Given the description of an element on the screen output the (x, y) to click on. 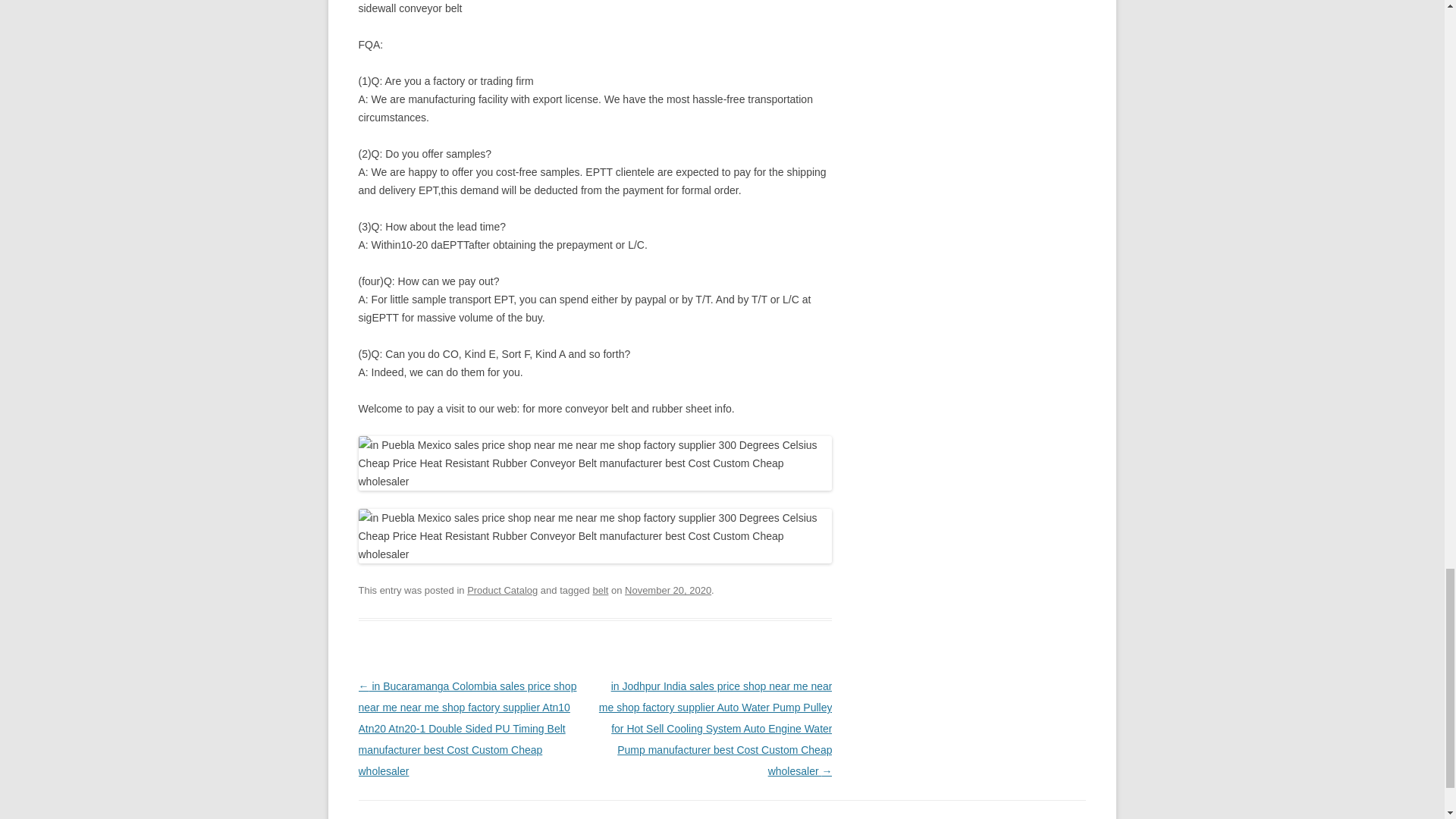
belt (600, 590)
4:12 am (667, 590)
November 20, 2020 (667, 590)
Product Catalog (502, 590)
